Given the description of an element on the screen output the (x, y) to click on. 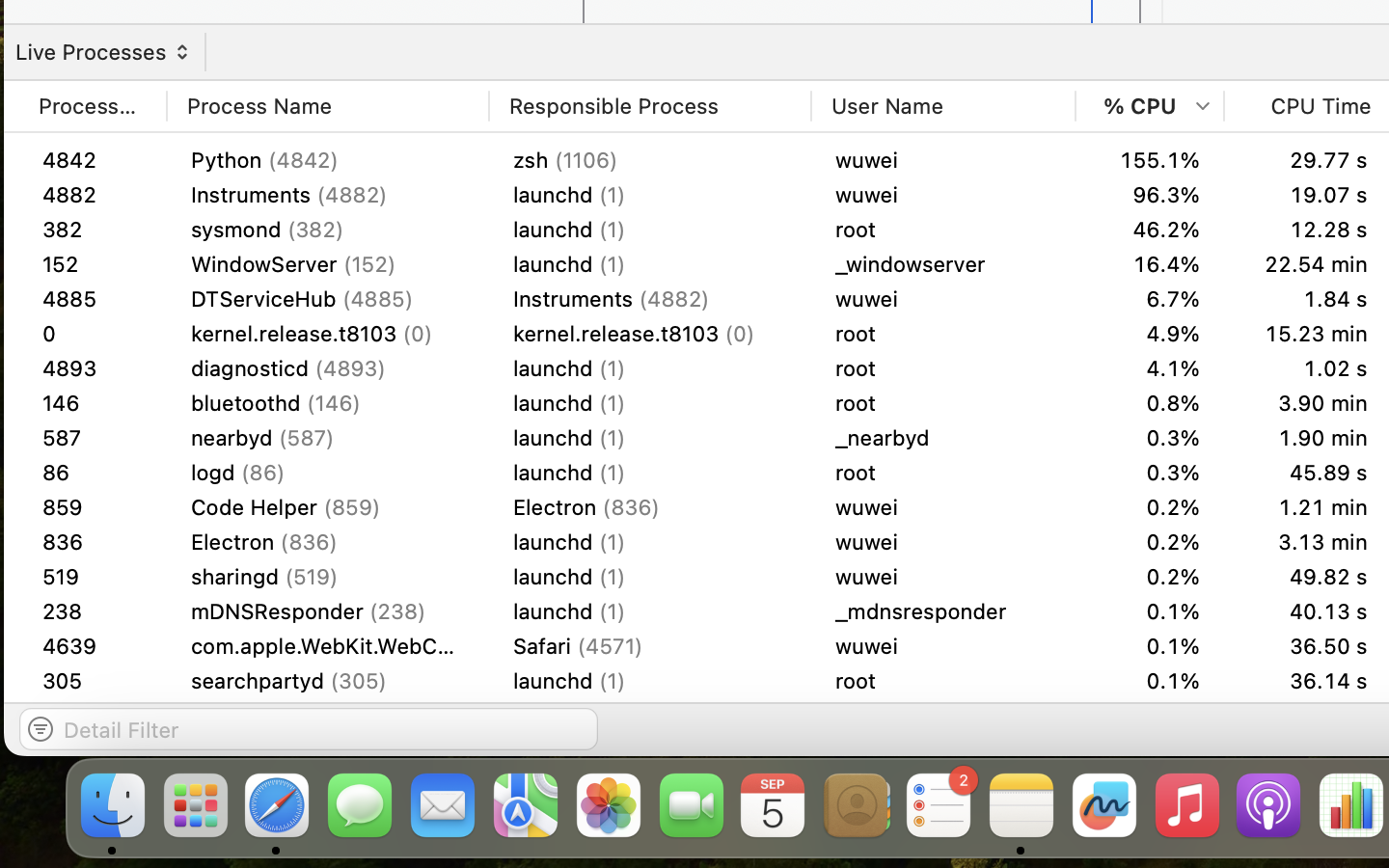
25.0% Element type: AXStaticText (1149, 159)
40.4% Element type: AXStaticText (1149, 229)
0.3% Element type: AXStaticText (1149, 715)
bluetoothd (146) Element type: AXStaticText (327, 402)
12.15 s Element type: AXStaticText (1307, 611)
